Given the description of an element on the screen output the (x, y) to click on. 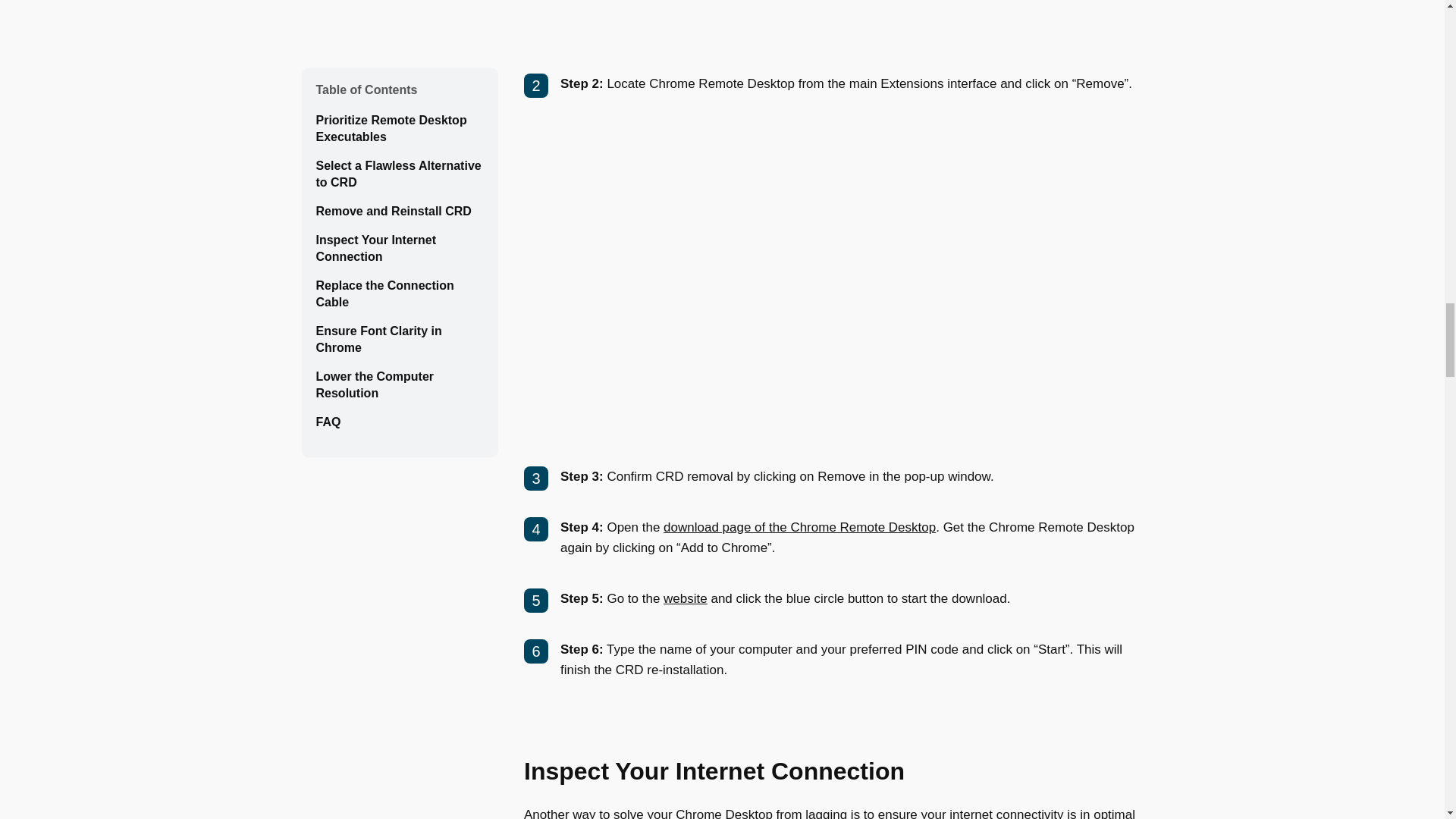
Manage Chrome Extensions (847, 21)
